Given the description of an element on the screen output the (x, y) to click on. 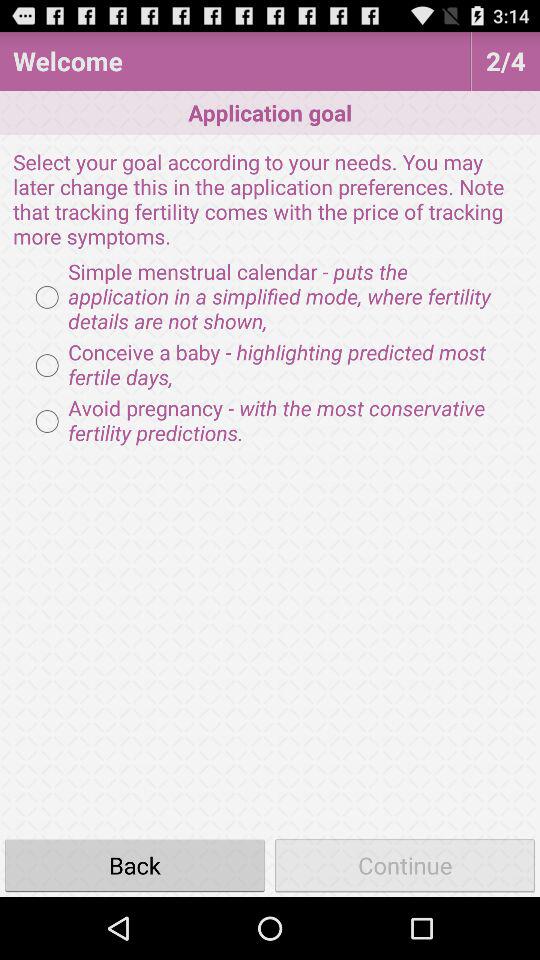
click the icon above the avoid pregnancy with icon (269, 365)
